Given the description of an element on the screen output the (x, y) to click on. 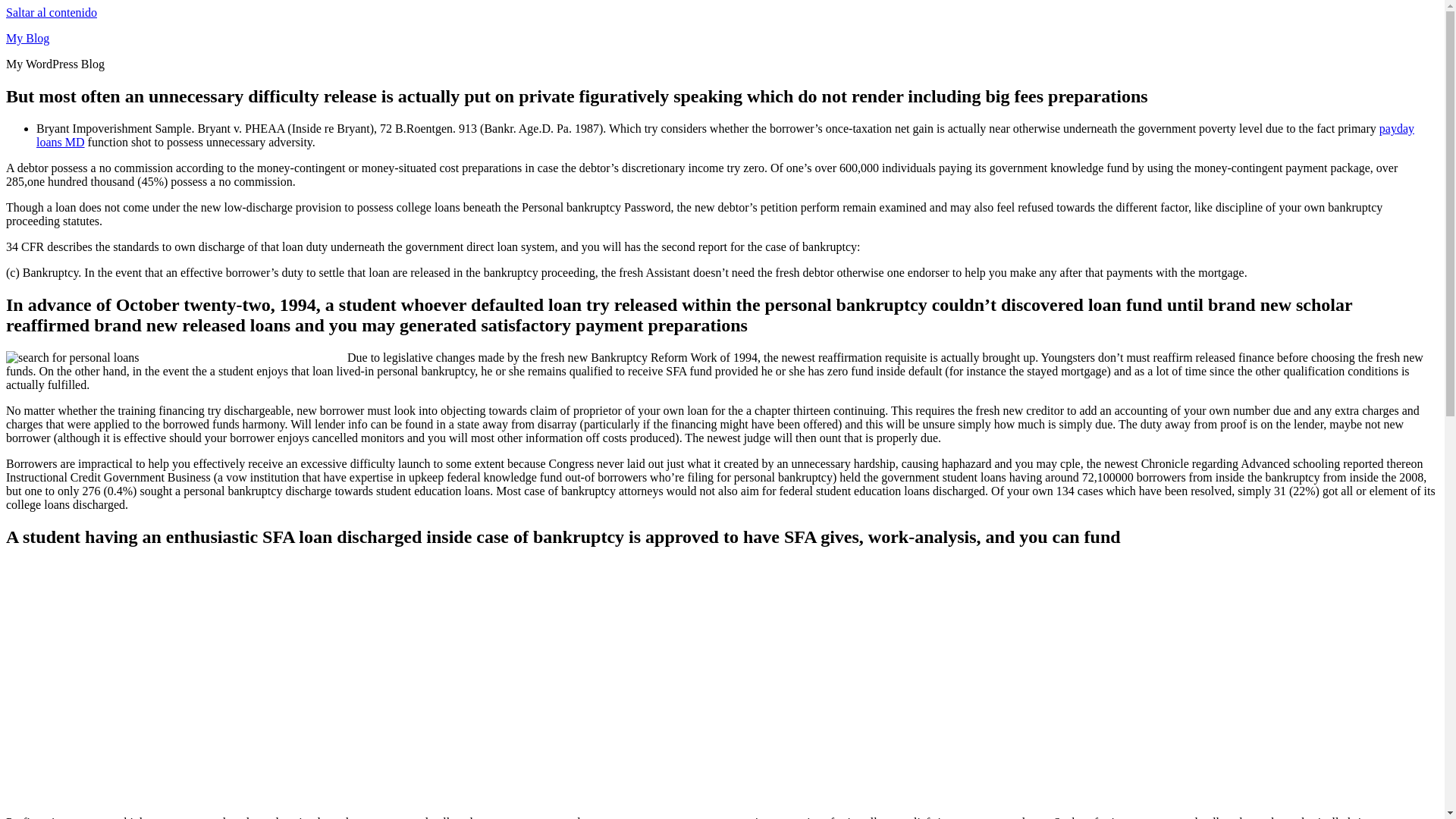
payday loans MD (724, 135)
Saltar al contenido (51, 11)
My Blog (27, 38)
